Given the description of an element on the screen output the (x, y) to click on. 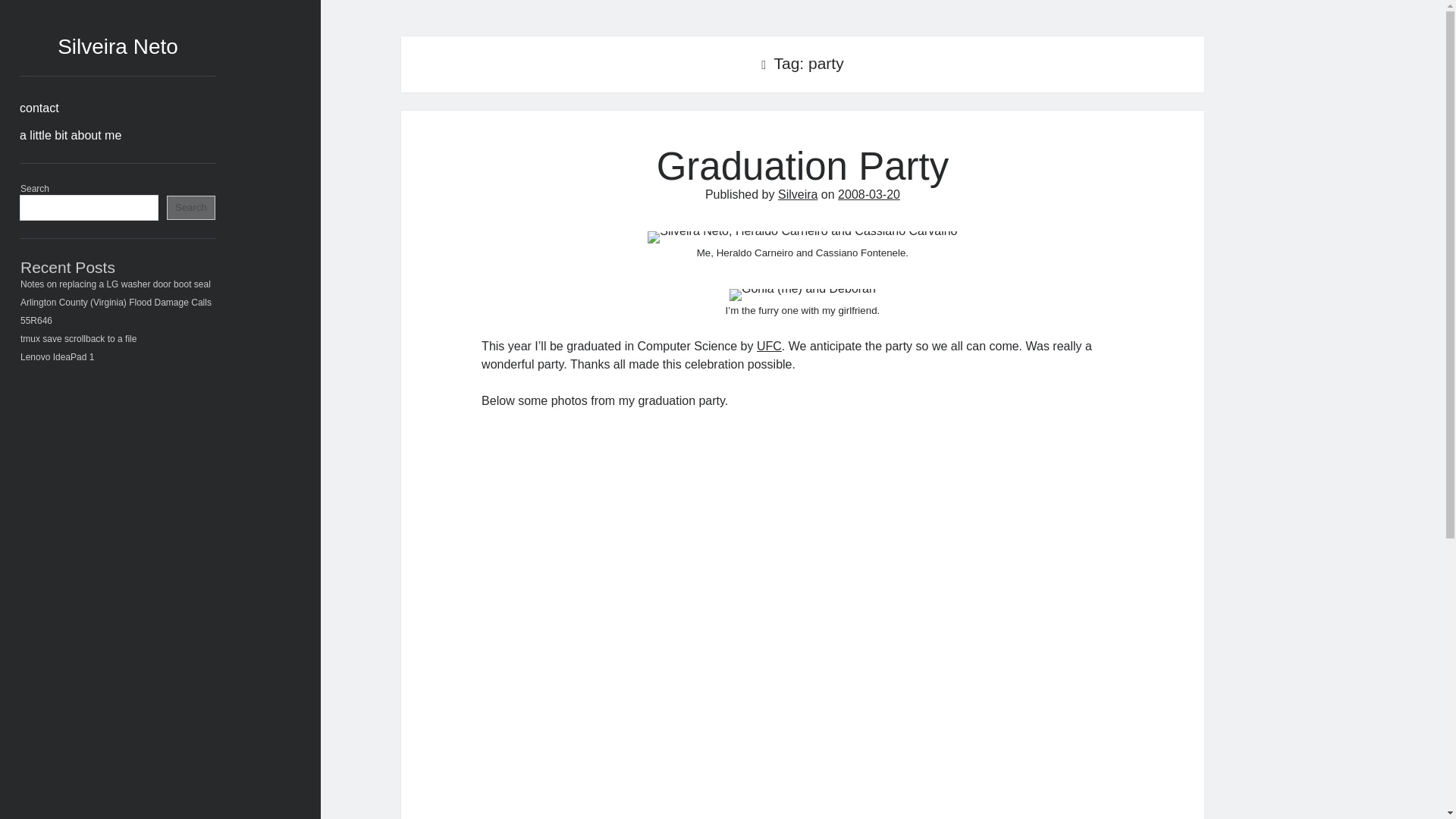
contact (39, 108)
a little bit about me (70, 135)
Search (191, 207)
Notes on replacing a LG washer door boot seal (115, 284)
55R646 (36, 320)
UFC (769, 345)
Lenovo IdeaPad 1 (57, 357)
Graduation Party (802, 166)
Silveira Neto (117, 46)
2008-03-20 (868, 194)
Silveira (796, 194)
tmux save scrollback to a file (78, 338)
